Given the description of an element on the screen output the (x, y) to click on. 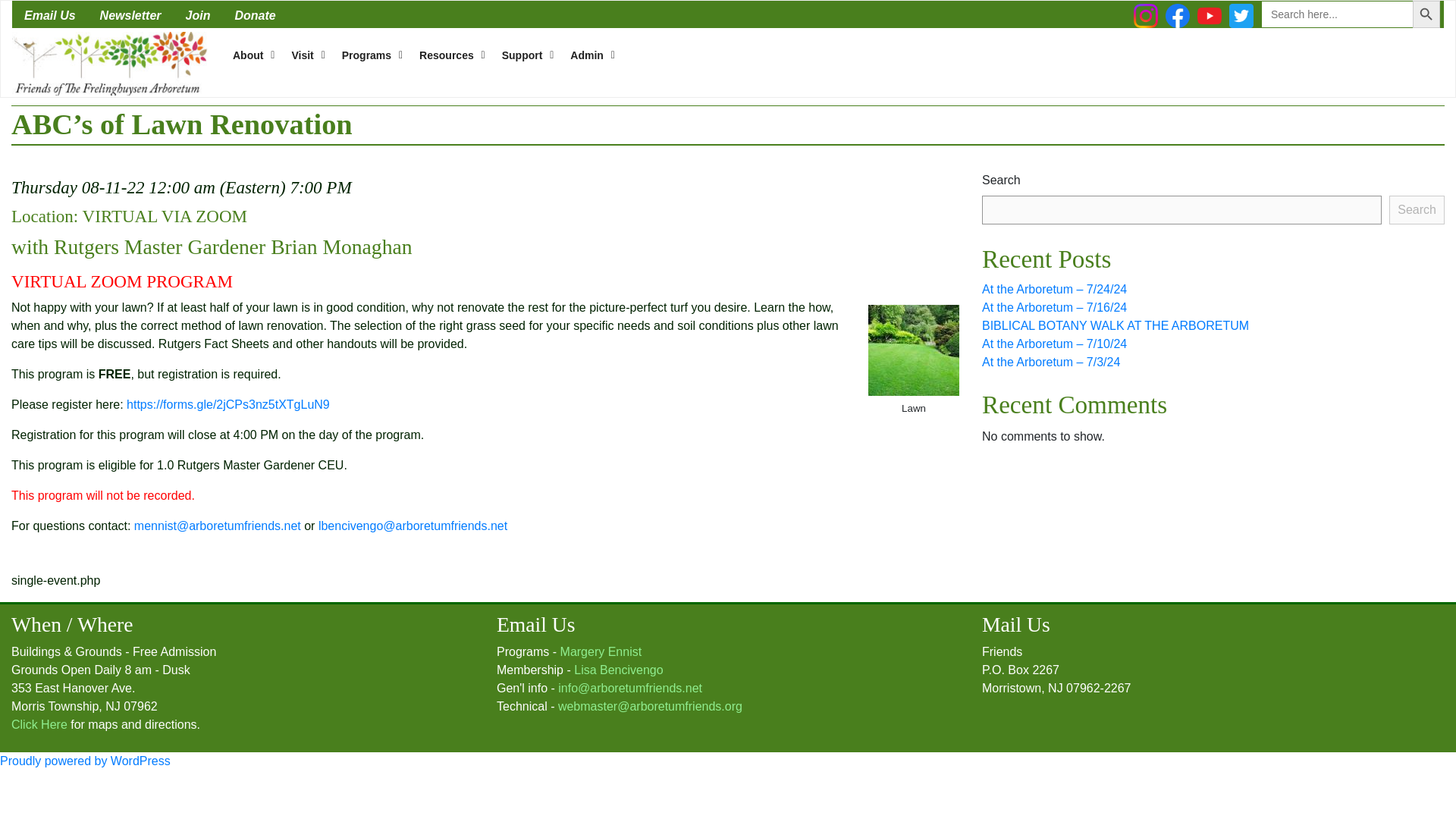
About (250, 54)
Email Us (49, 13)
Support (524, 54)
Donate (254, 13)
Programs (368, 54)
Join (197, 13)
Programs (368, 54)
Newsletter (130, 13)
Visit (304, 54)
Search Button (1425, 13)
About (250, 54)
Resources (448, 54)
Visit (304, 54)
